Given the description of an element on the screen output the (x, y) to click on. 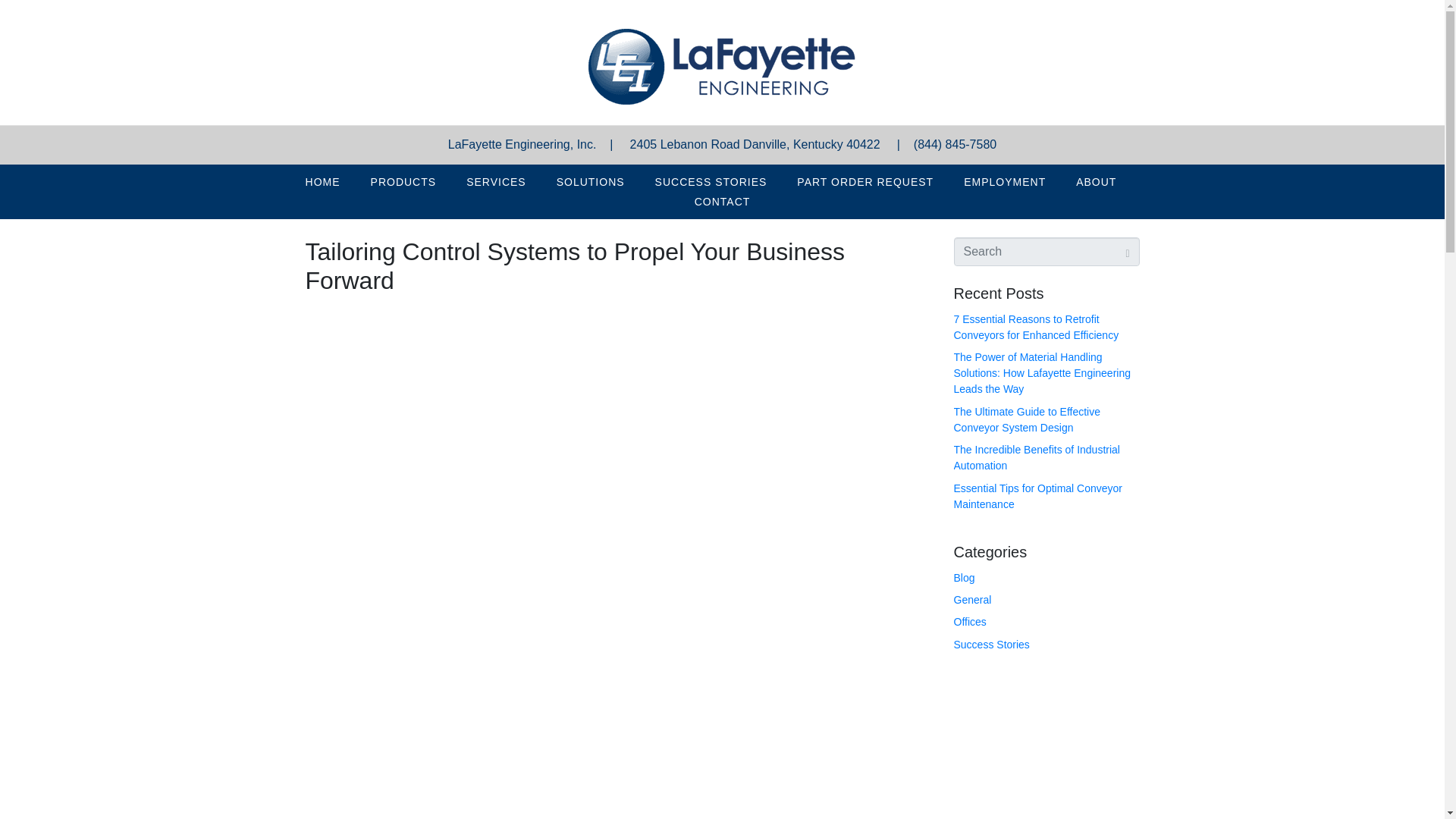
Tailoring Control Systems to Propel Your Business Forward (574, 266)
SOLUTIONS (590, 181)
HOME (322, 181)
ABOUT (1095, 181)
CONTACT (722, 201)
Tailoring Control Systems to Propel Your Business Forward (574, 266)
PRODUCTS (403, 181)
PART ORDER REQUEST (865, 181)
Tailoring Control Systems to Propel Your Business Forward (613, 570)
